Given the description of an element on the screen output the (x, y) to click on. 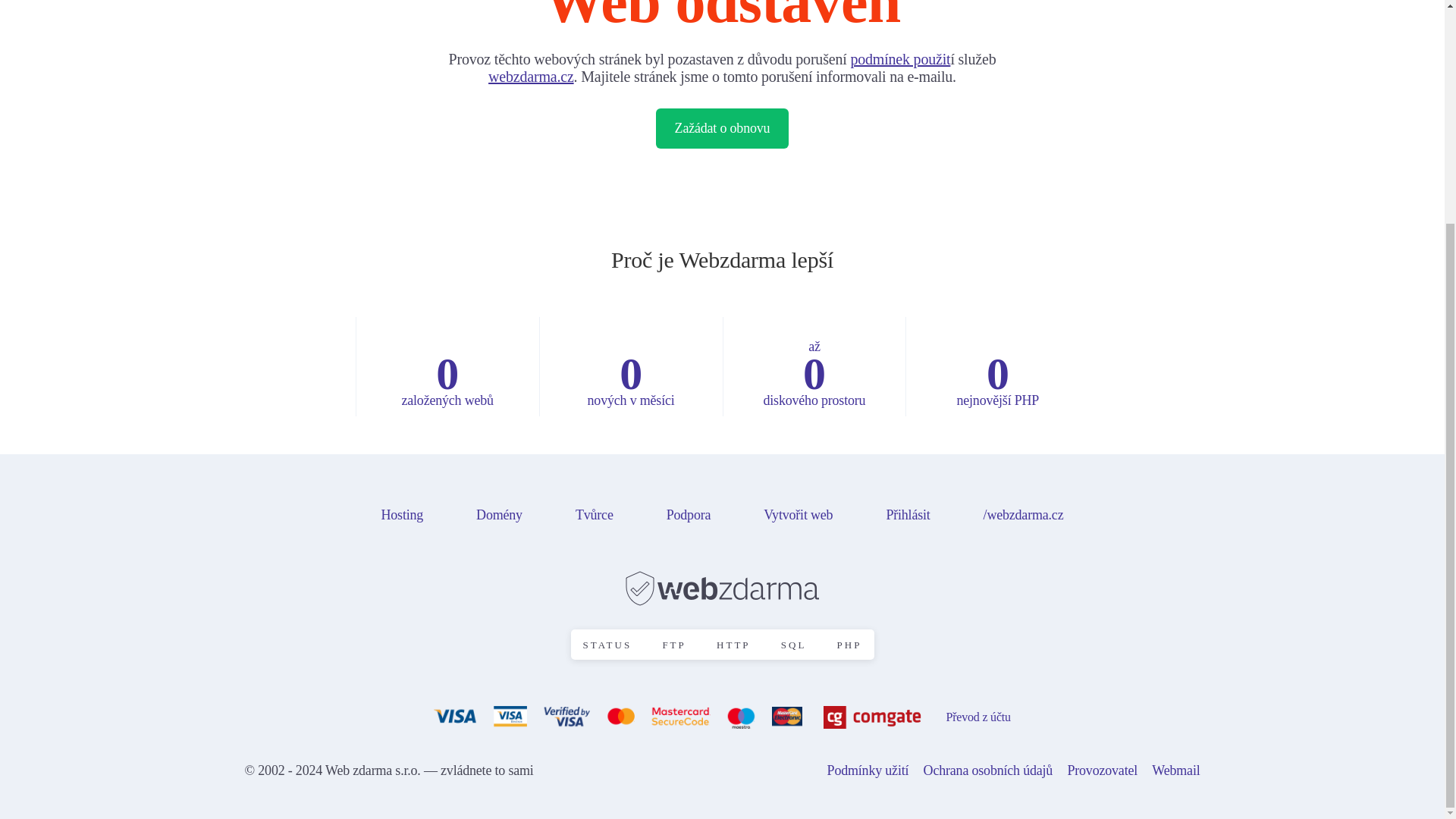
Podpora (688, 514)
Hosting (401, 514)
Provozovatel (1107, 770)
Webmail (1181, 770)
webzdarma.cz (530, 76)
